Given the description of an element on the screen output the (x, y) to click on. 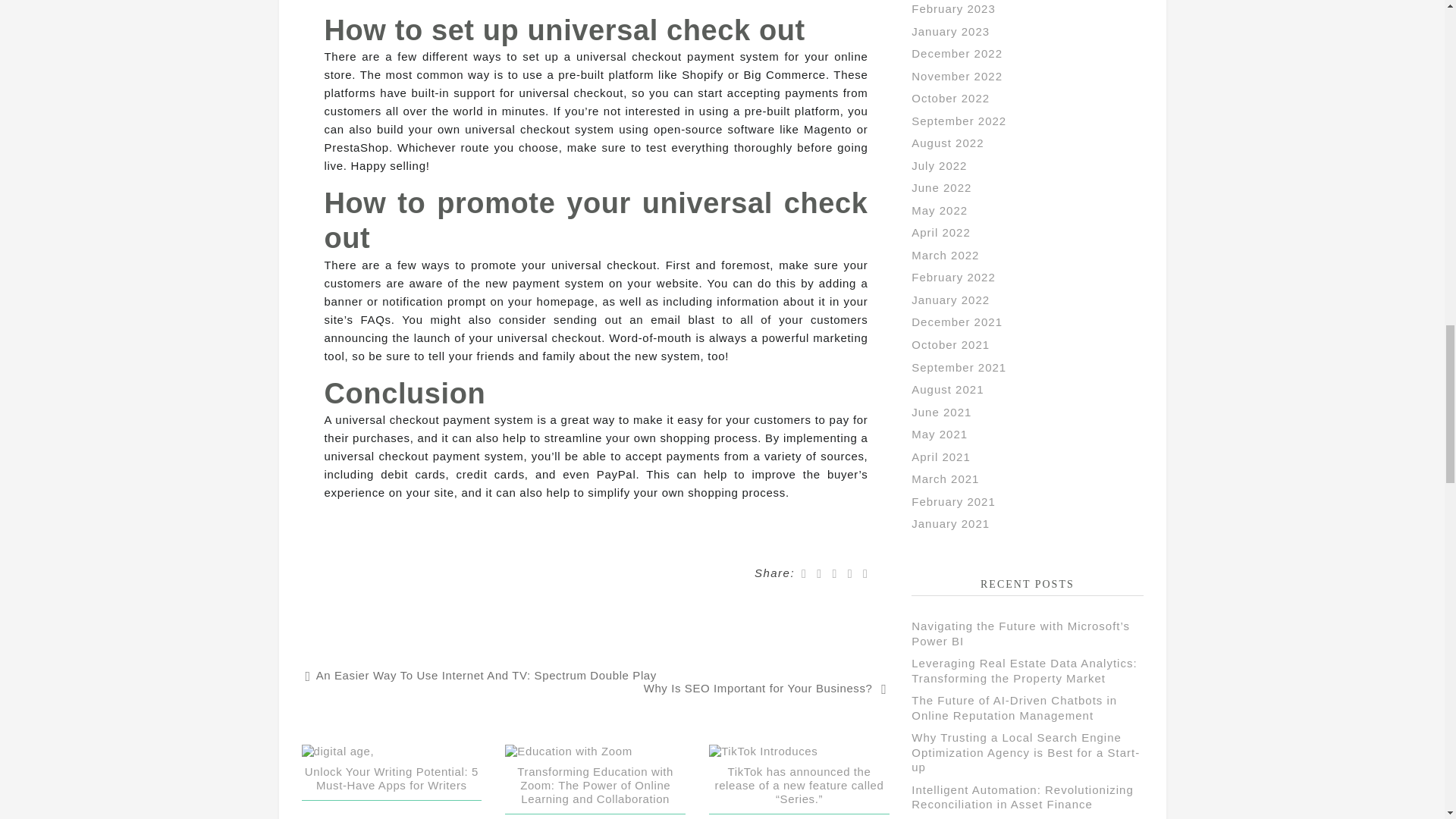
Why Is SEO Important for Your Business? (765, 687)
An Easier Way To Use Internet And TV: Spectrum Double Play (481, 674)
Unlock Your Writing Potential: 5 Must-Have Apps for Writers (391, 777)
